Given the description of an element on the screen output the (x, y) to click on. 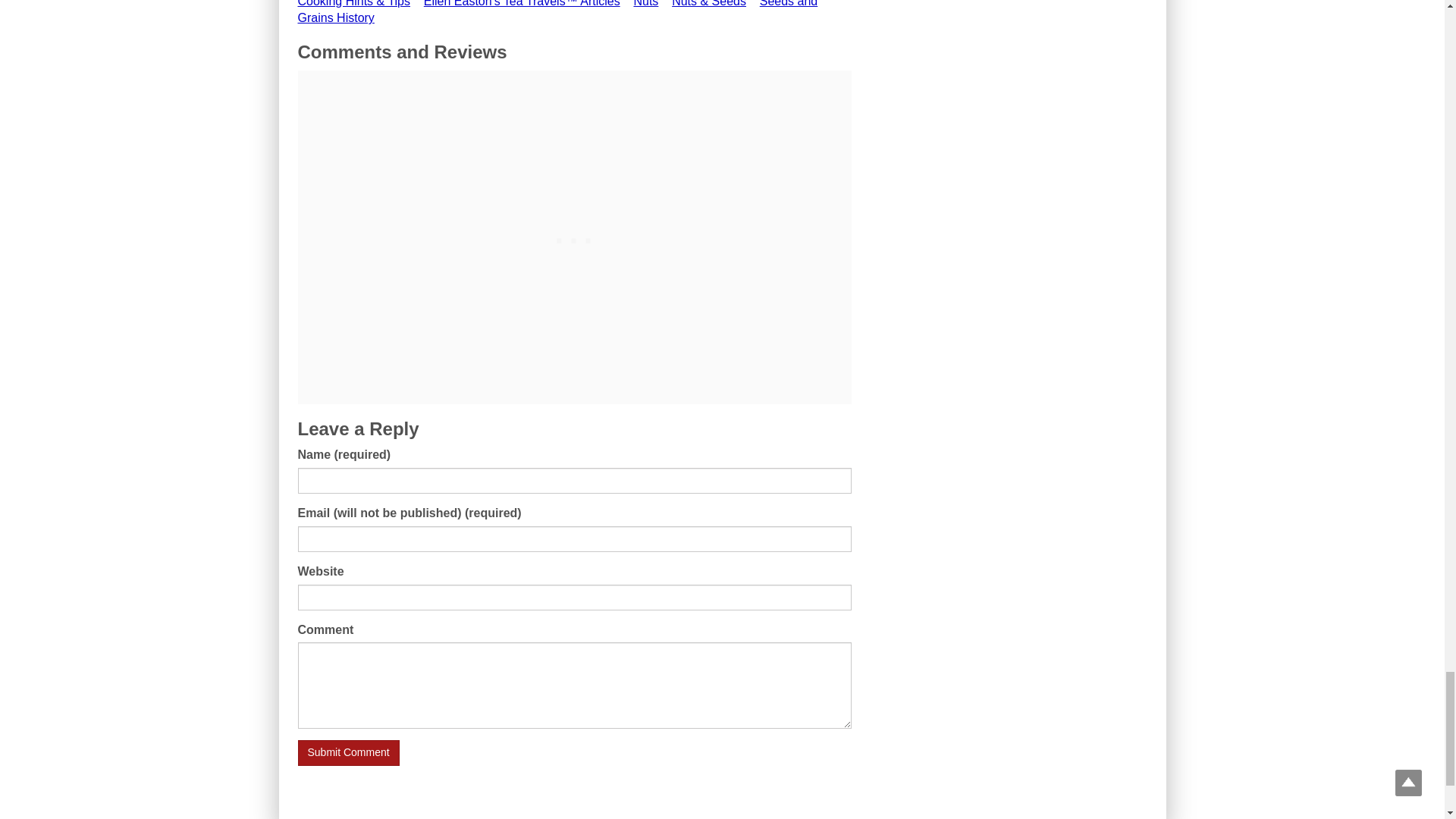
View all posts in Seeds and Grains History (556, 12)
Submit Comment (347, 752)
View all posts in Nuts (645, 3)
